Given the description of an element on the screen output the (x, y) to click on. 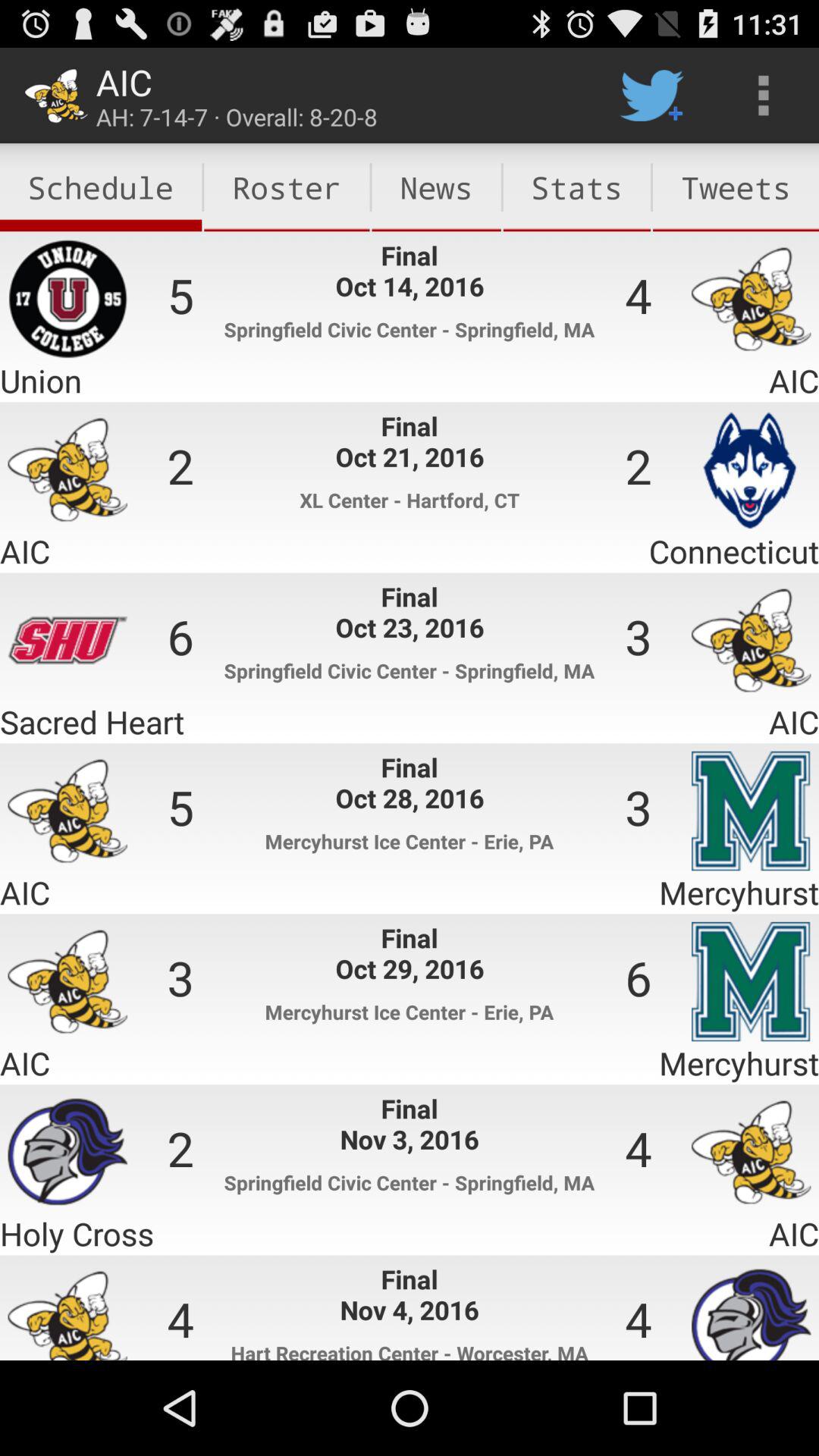
turn on icon next to 4 app (735, 187)
